Given the description of an element on the screen output the (x, y) to click on. 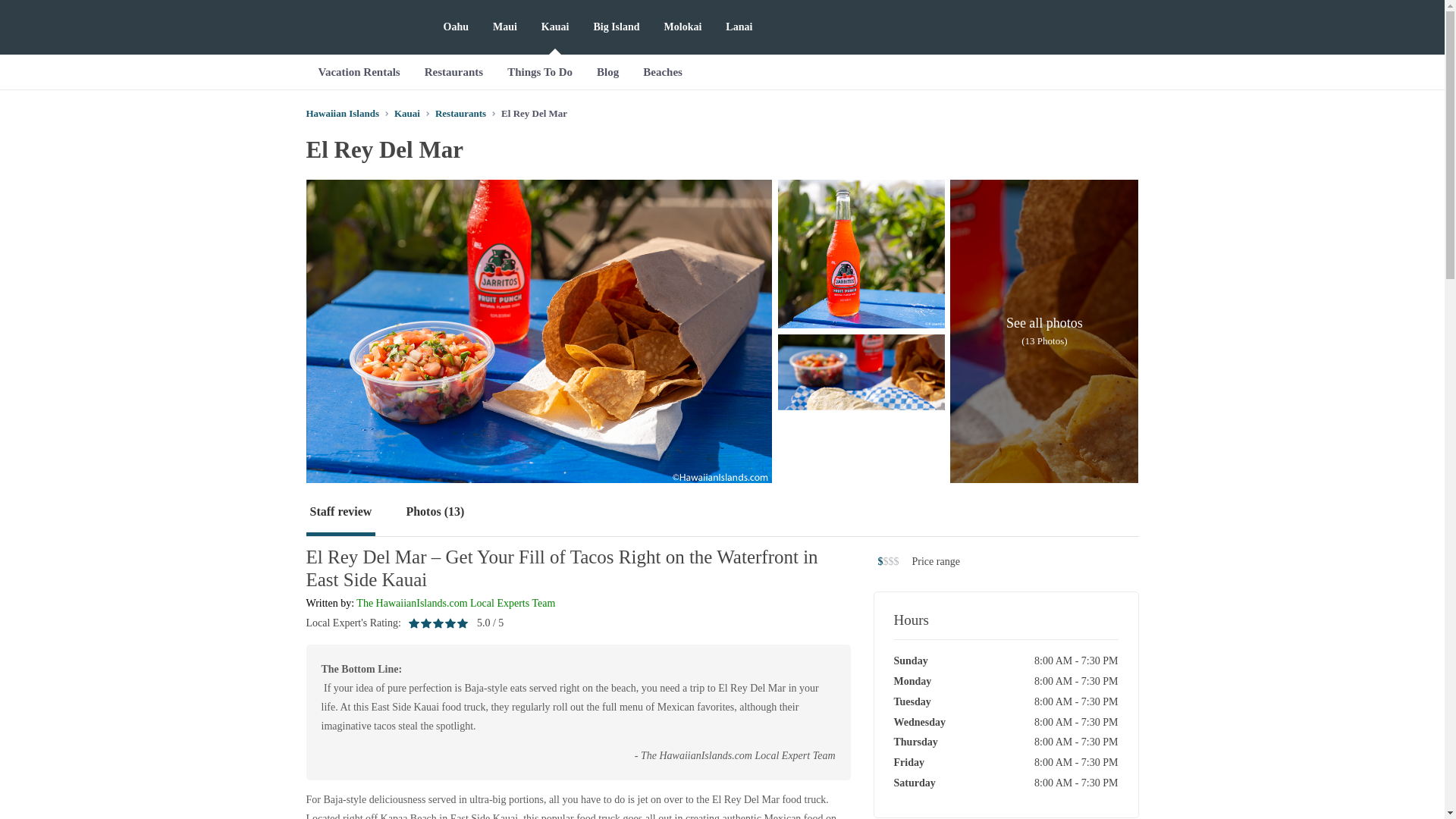
The HawaiianIslands.com Local Experts Team (455, 603)
Blog (607, 71)
Original Photo (860, 253)
Staff review (340, 513)
Kauai (407, 112)
Restaurants (454, 71)
Hawaiian Islands (341, 112)
Restaurants (460, 112)
Beaches (662, 71)
Things To Do (540, 71)
Original Photo (860, 408)
Vacation Rentals (358, 71)
